Given the description of an element on the screen output the (x, y) to click on. 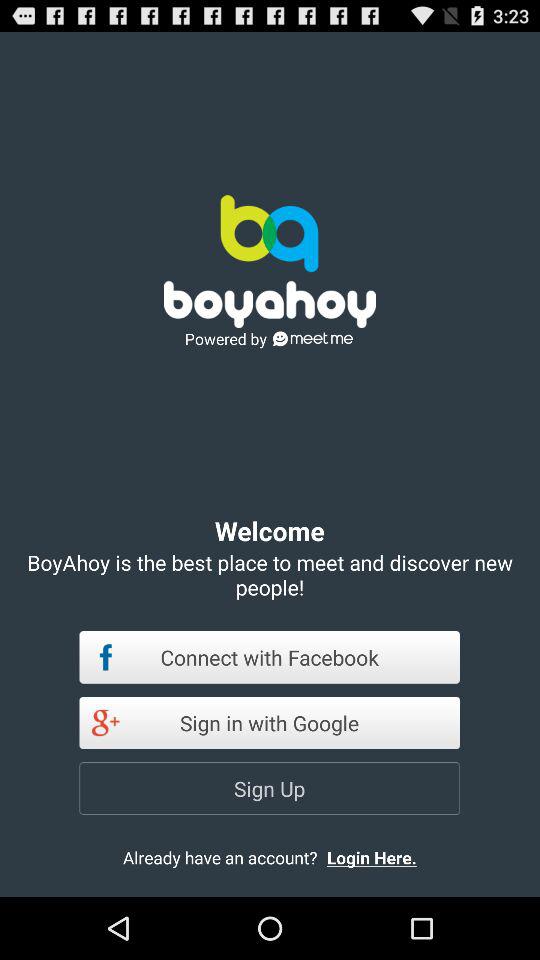
select app to the right of the already have an item (388, 857)
